Given the description of an element on the screen output the (x, y) to click on. 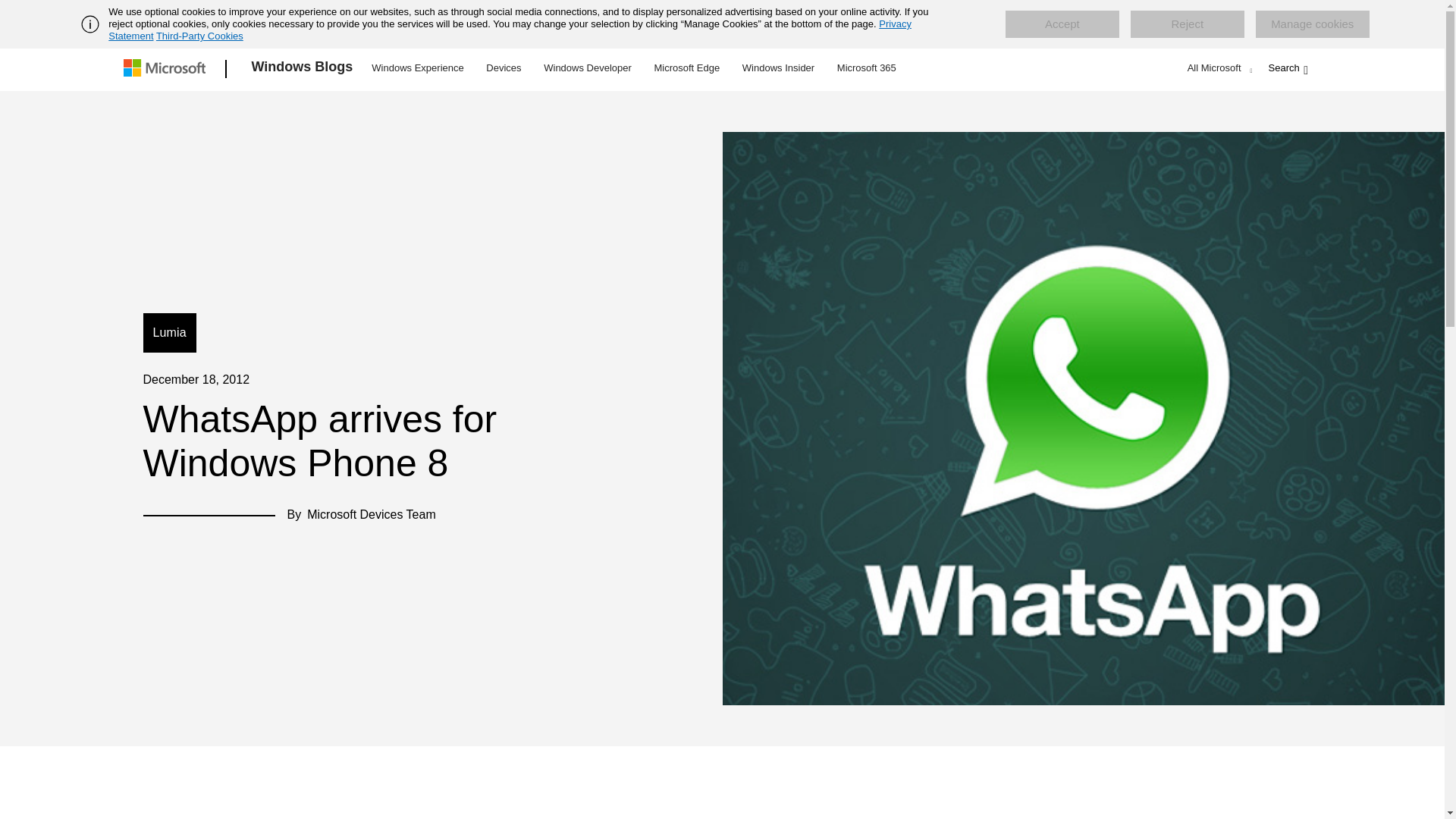
Windows Developer (588, 67)
Microsoft (167, 69)
Microsoft 365 (865, 67)
Accept (1062, 23)
Manage cookies (1312, 23)
Privacy Statement (509, 29)
Third-Party Cookies (199, 35)
Windows Experience (417, 67)
Reject (1187, 23)
All Microsoft (1217, 67)
Microsoft Edge (686, 67)
Windows Blogs (302, 69)
Devices (503, 67)
Windows Insider (778, 67)
